Given the description of an element on the screen output the (x, y) to click on. 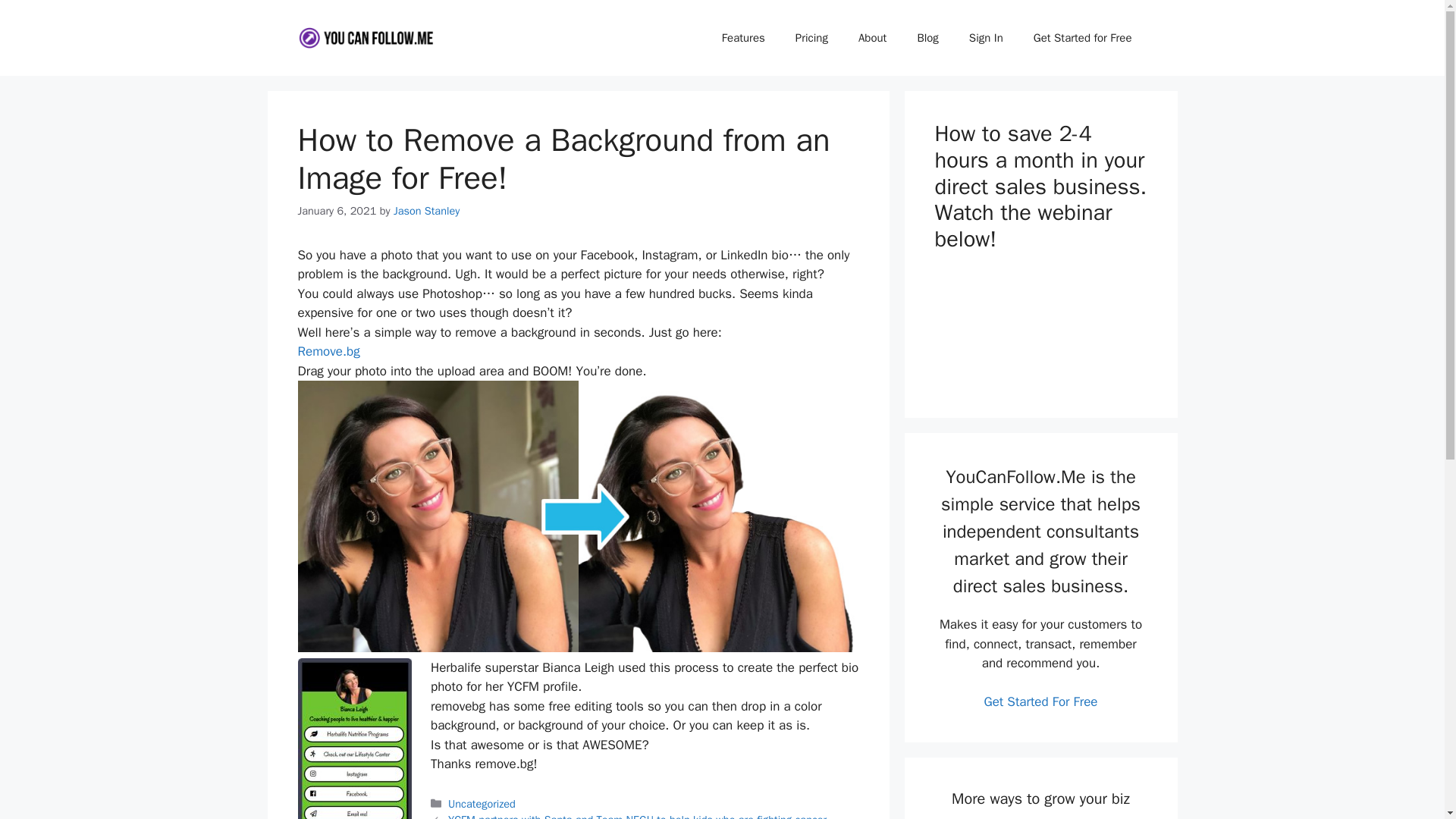
Previous (637, 816)
Features (743, 37)
Time is money. Let us help you save it. (1040, 328)
Pricing (811, 37)
View all posts by Jason Stanley (426, 210)
Jason Stanley (426, 210)
About (872, 37)
Blog (927, 37)
Uncategorized (481, 803)
Sign In (985, 37)
YouCanFollow.Me (365, 36)
Remove.bg (328, 351)
Get Started for Free (1082, 37)
YouCanFollow.Me (365, 37)
